Given the description of an element on the screen output the (x, y) to click on. 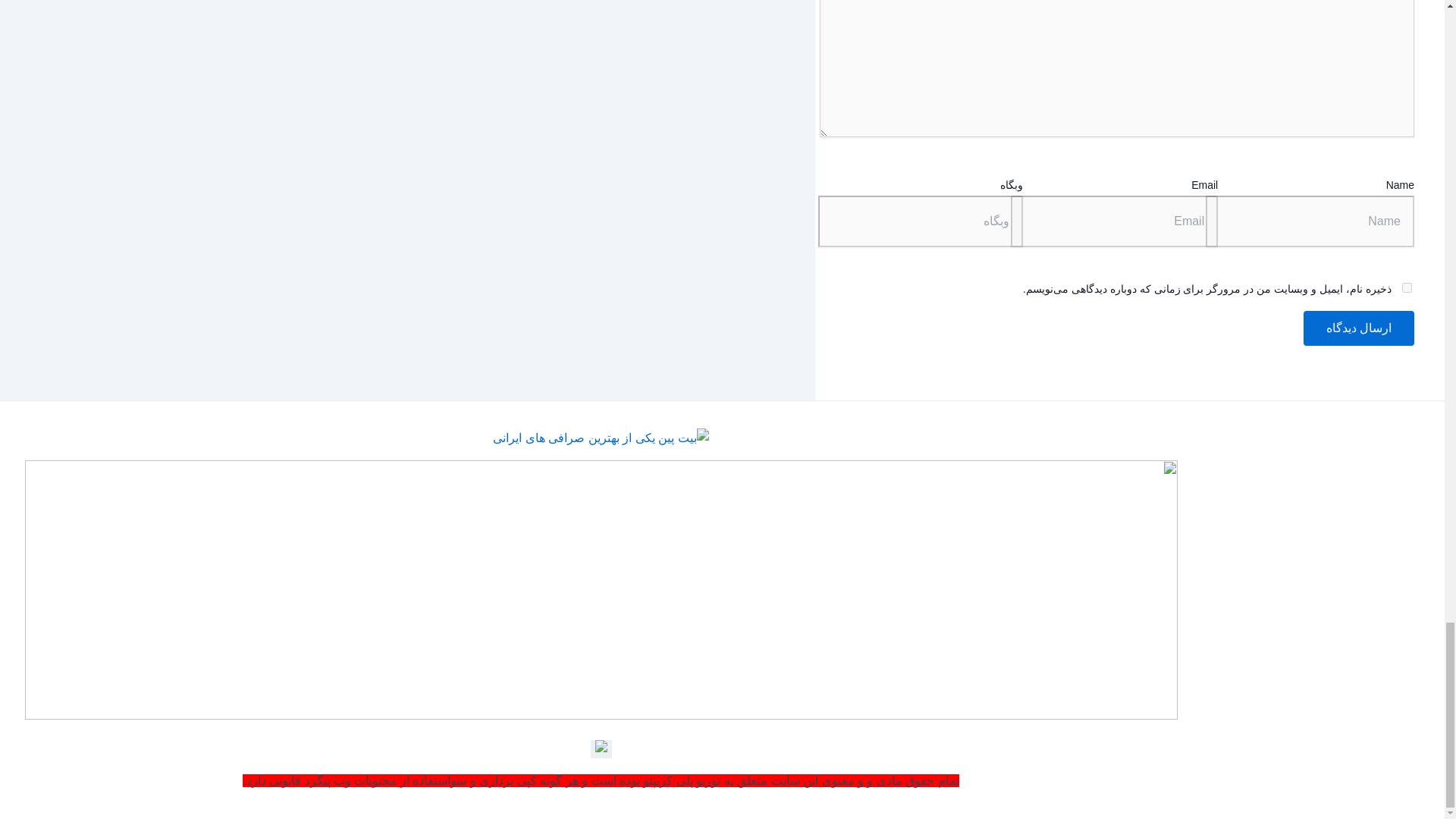
yes (1407, 287)
